Given the description of an element on the screen output the (x, y) to click on. 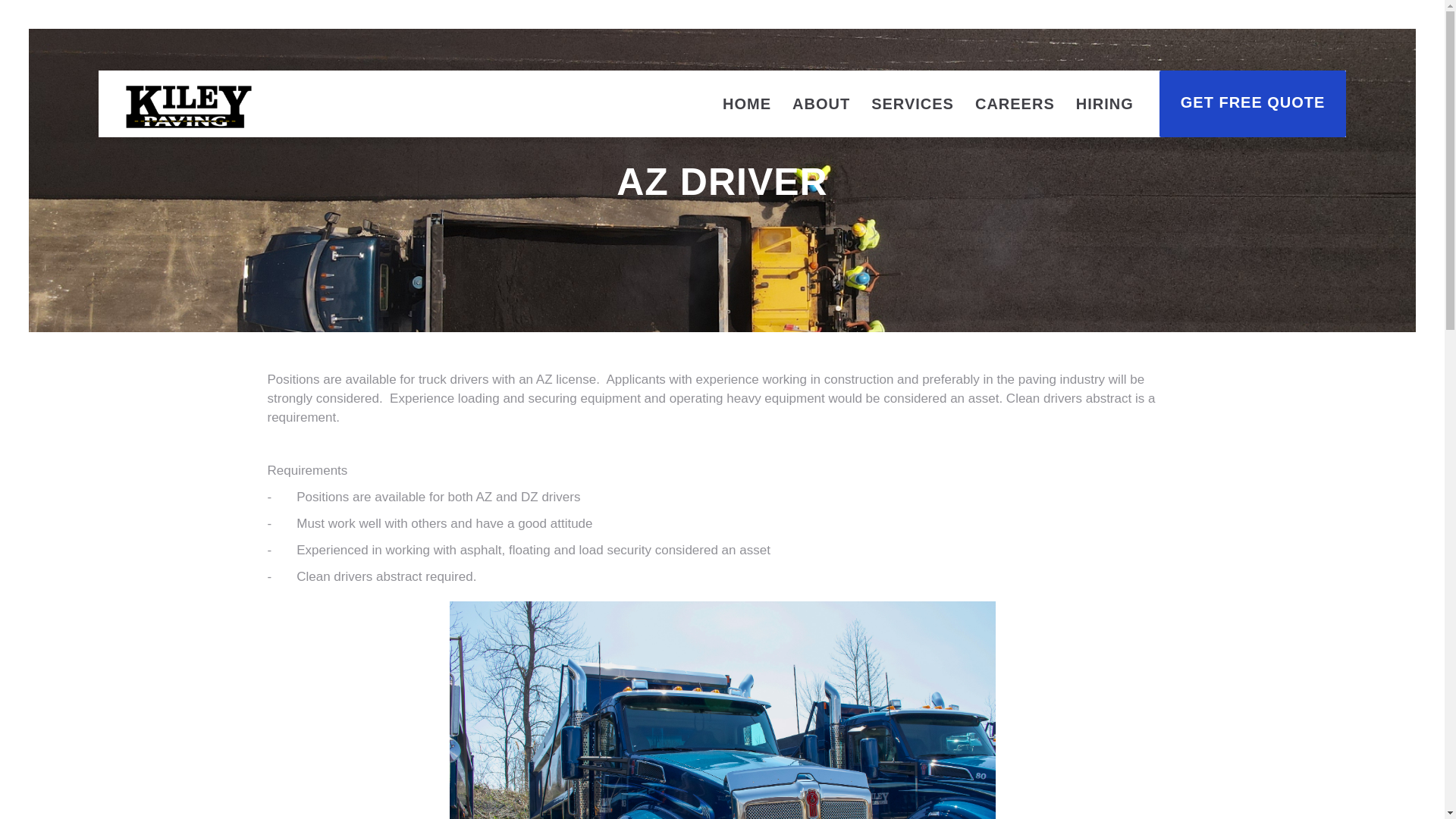
SERVICES (911, 103)
ABOUT (820, 103)
HOME (746, 103)
CAREERS (1014, 103)
HIRING (1104, 103)
